Given the description of an element on the screen output the (x, y) to click on. 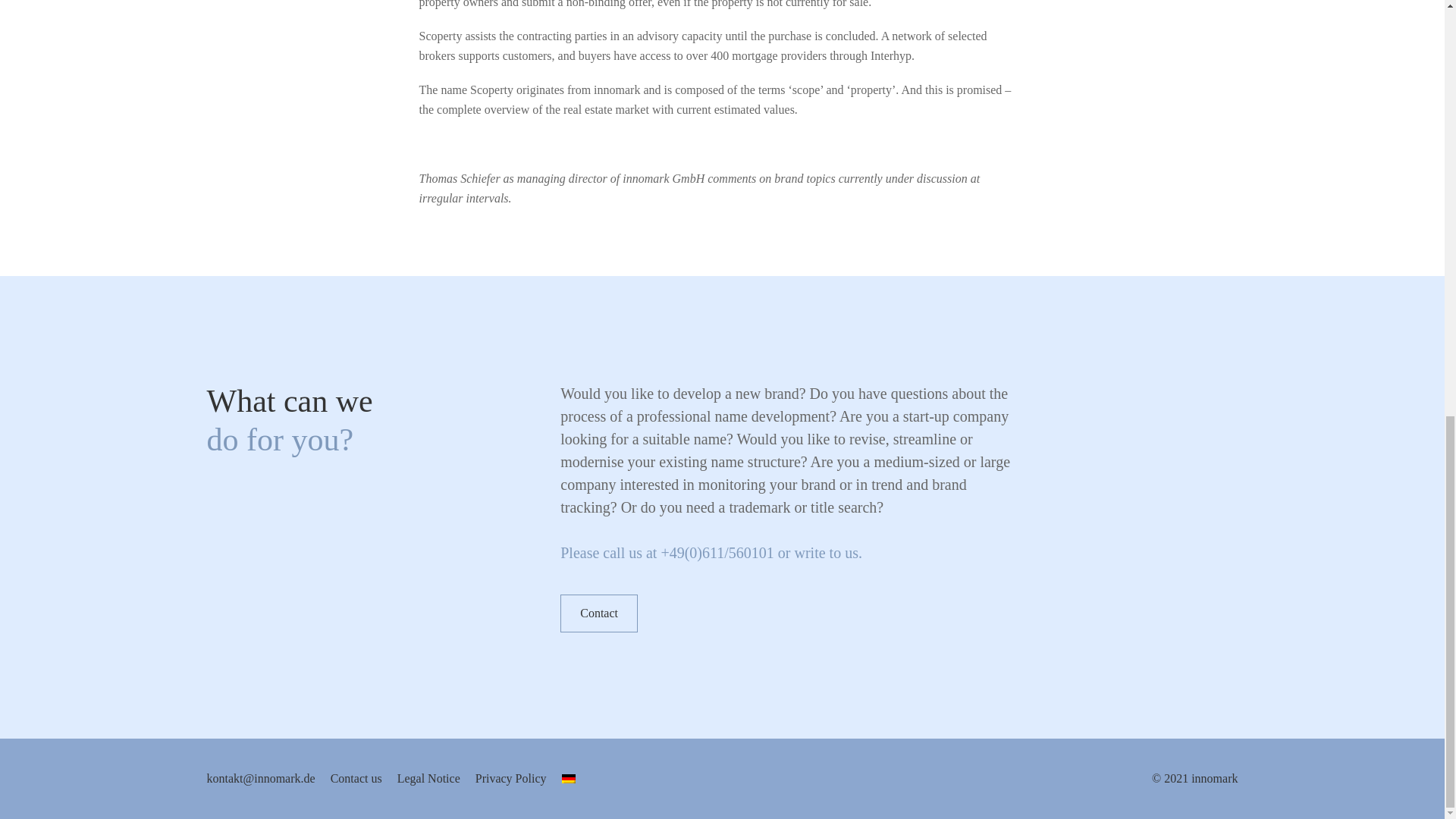
Privacy Policy (511, 778)
Contact us (355, 778)
Contact (598, 613)
Legal Notice (428, 778)
